Given the description of an element on the screen output the (x, y) to click on. 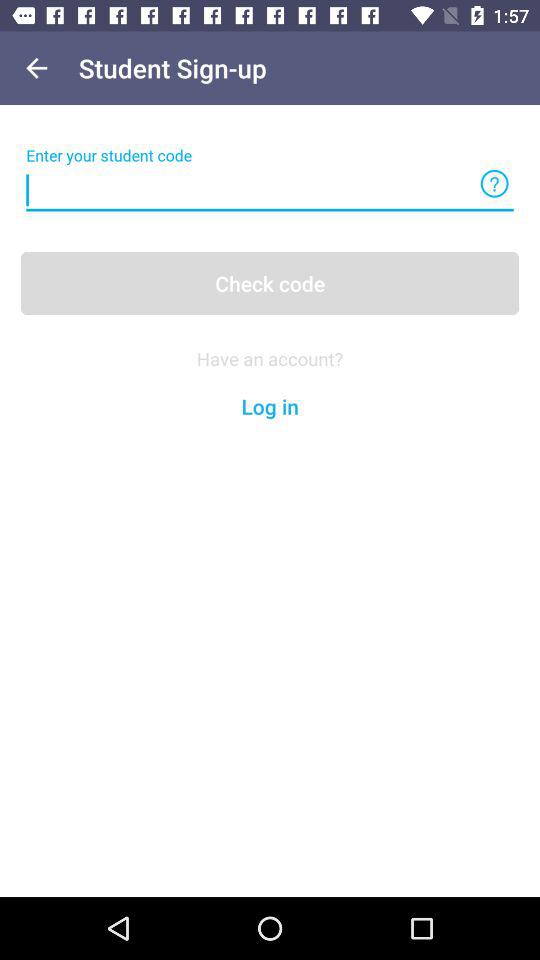
enter student code (270, 190)
